Given the description of an element on the screen output the (x, y) to click on. 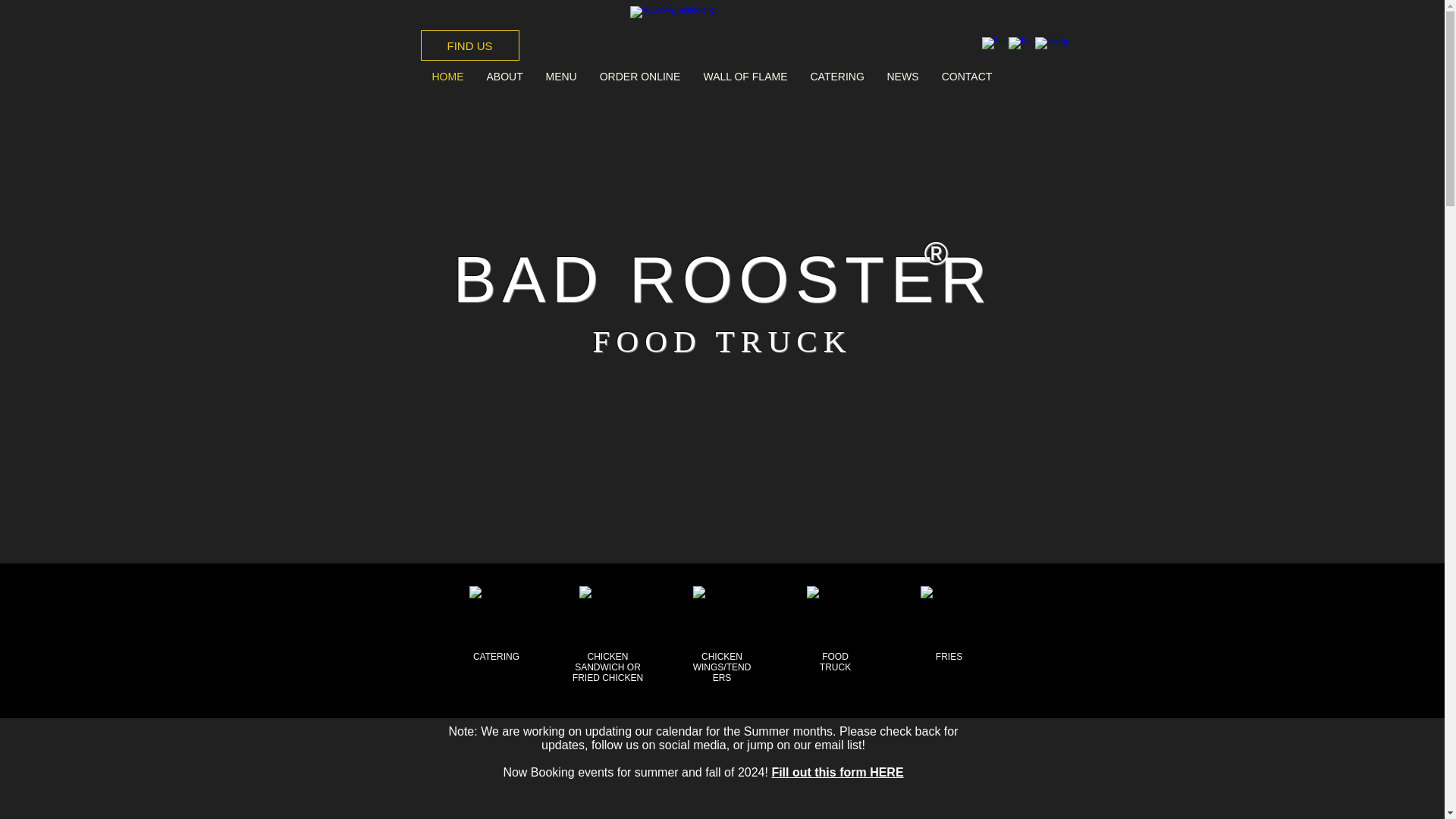
CATERING (837, 76)
NEWS (902, 76)
WALL OF FLAME (744, 76)
ABOUT (504, 76)
ORDER ONLINE (640, 76)
FIND US (469, 45)
MENU (561, 76)
CONTACT (966, 76)
Fill out this form HERE (836, 771)
HOME (447, 76)
